Given the description of an element on the screen output the (x, y) to click on. 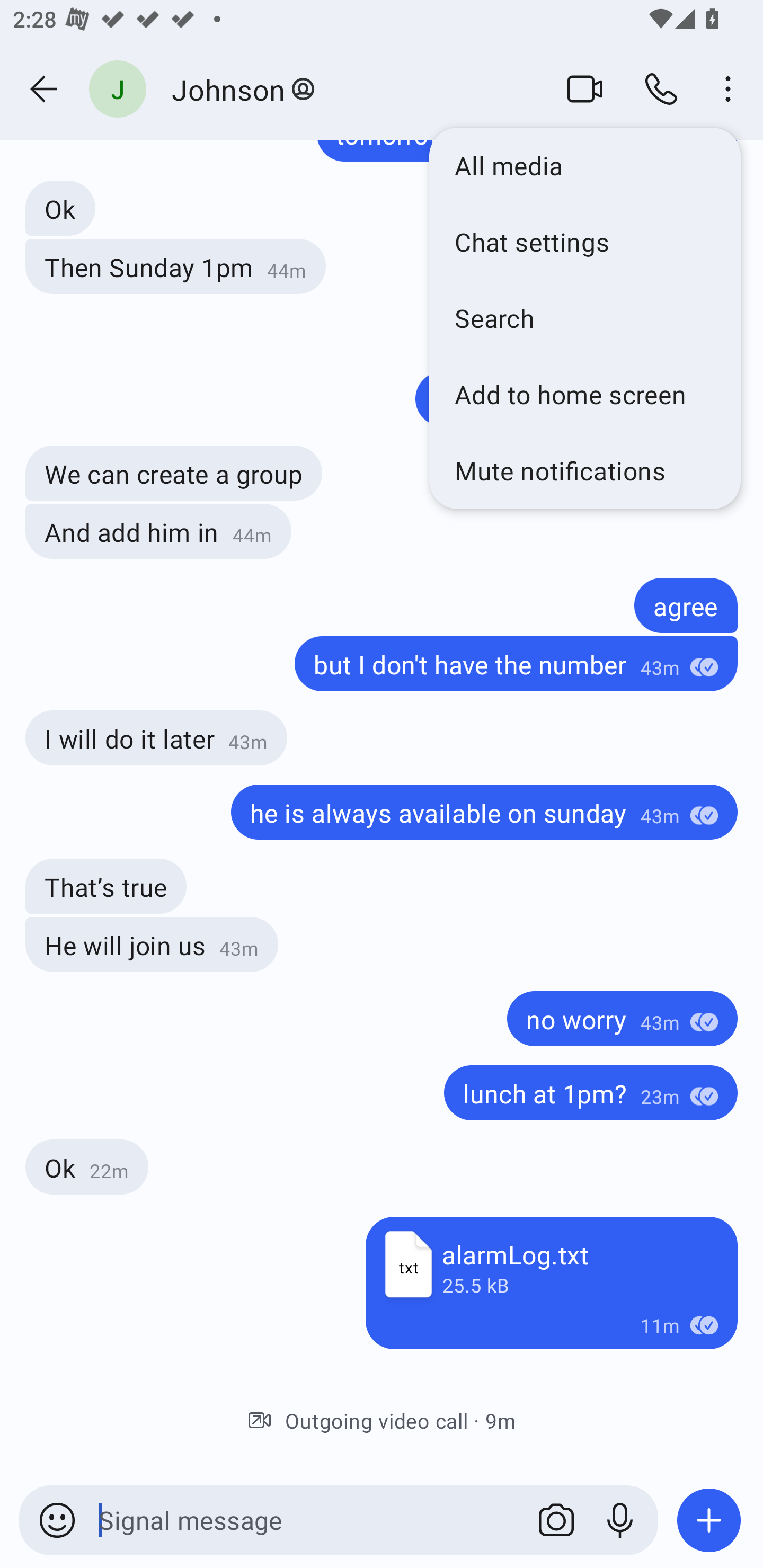
Chat settings (584, 241)
